Given the description of an element on the screen output the (x, y) to click on. 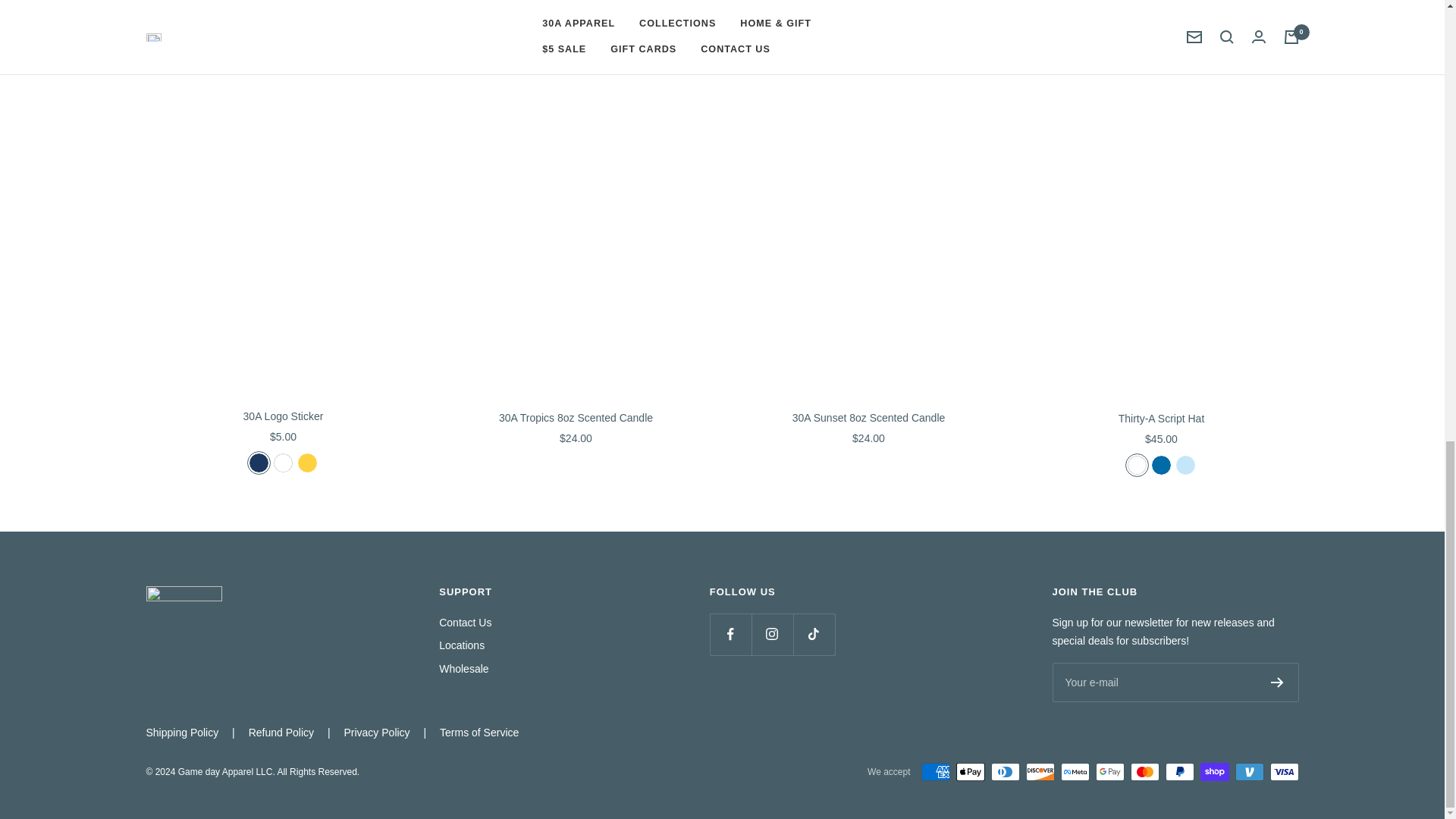
30A Logo Sticker (282, 416)
Register (1277, 682)
30A Sunset 8oz Scented Candle (868, 417)
Locations (461, 645)
Thirty-A Script Hat (1160, 418)
Wholesale (463, 669)
